Given the description of an element on the screen output the (x, y) to click on. 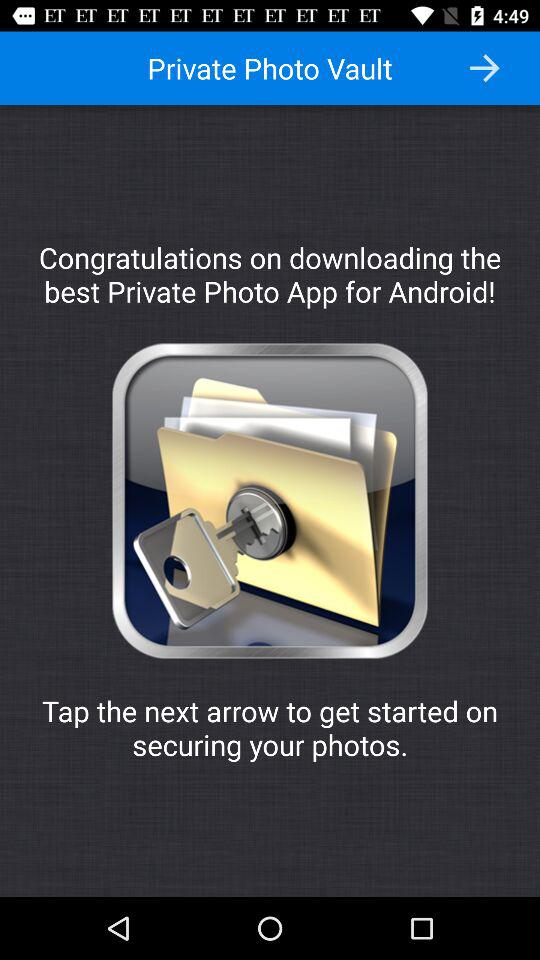
go next (484, 68)
